Given the description of an element on the screen output the (x, y) to click on. 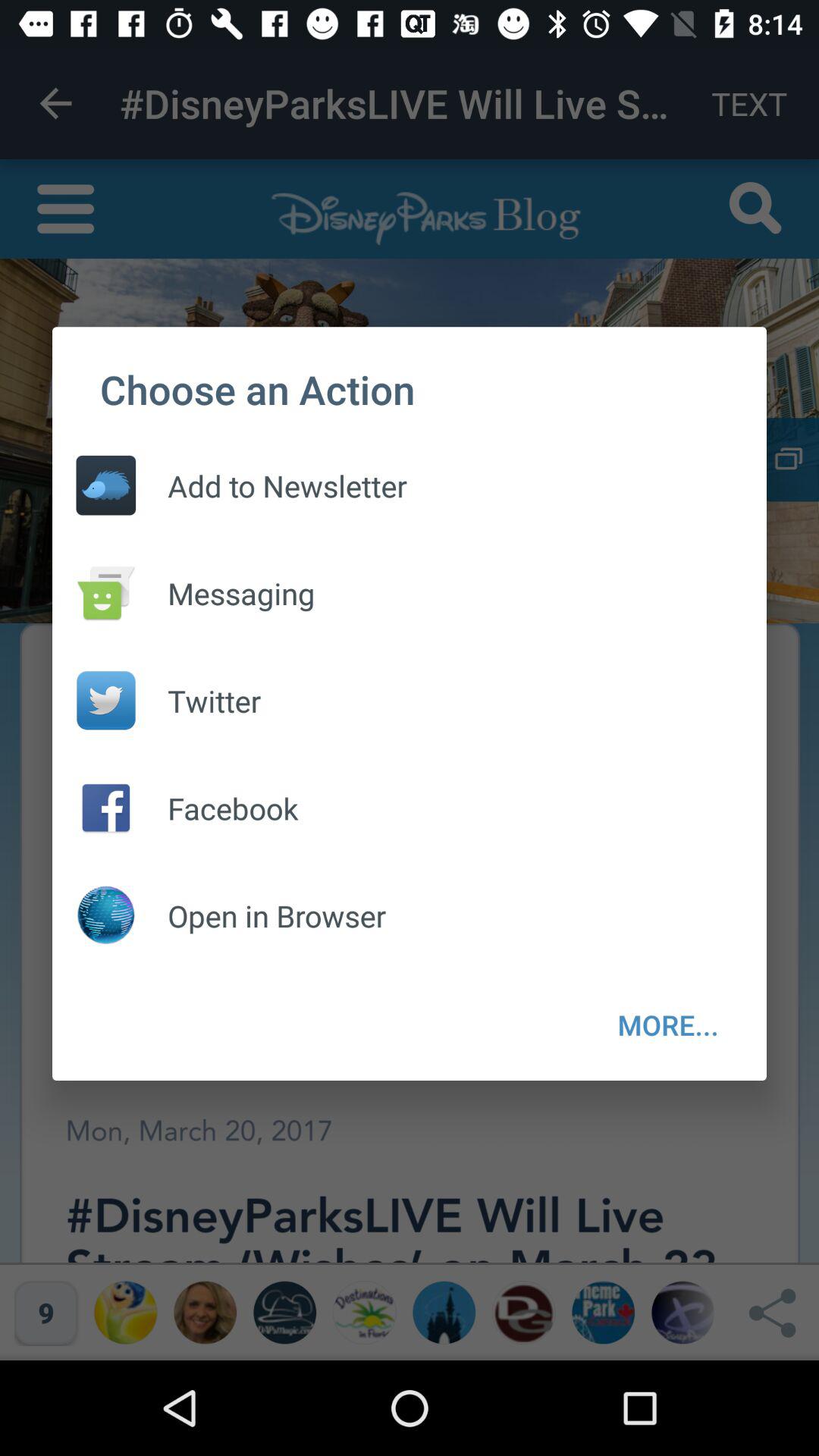
turn off the messaging icon (225, 593)
